Given the description of an element on the screen output the (x, y) to click on. 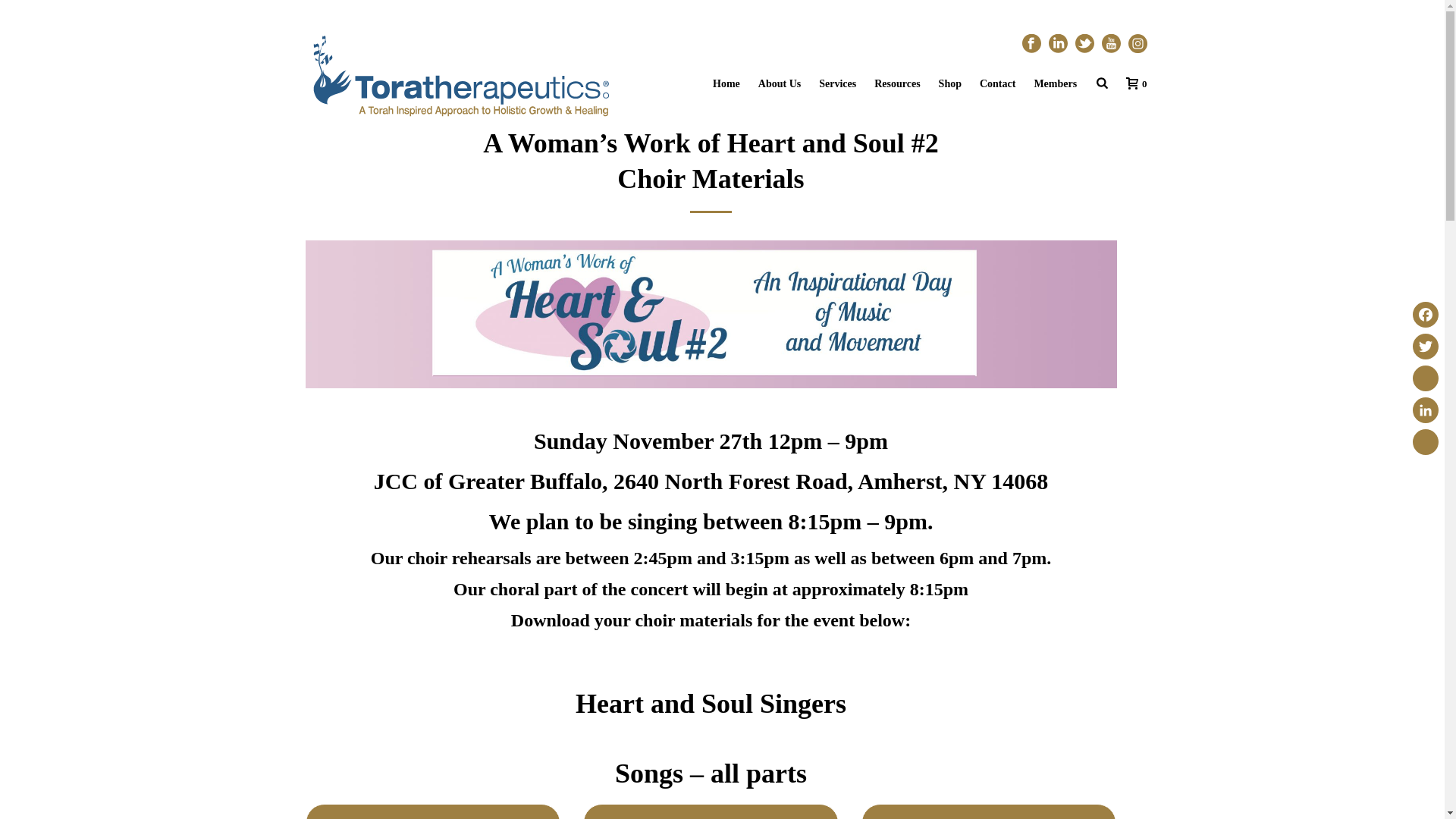
Services (836, 84)
Members (1055, 84)
Resources (896, 84)
Services (836, 84)
Members (1055, 84)
About Us (779, 84)
Contact (998, 84)
Shop (950, 84)
Resources (896, 84)
Home (726, 84)
